Given the description of an element on the screen output the (x, y) to click on. 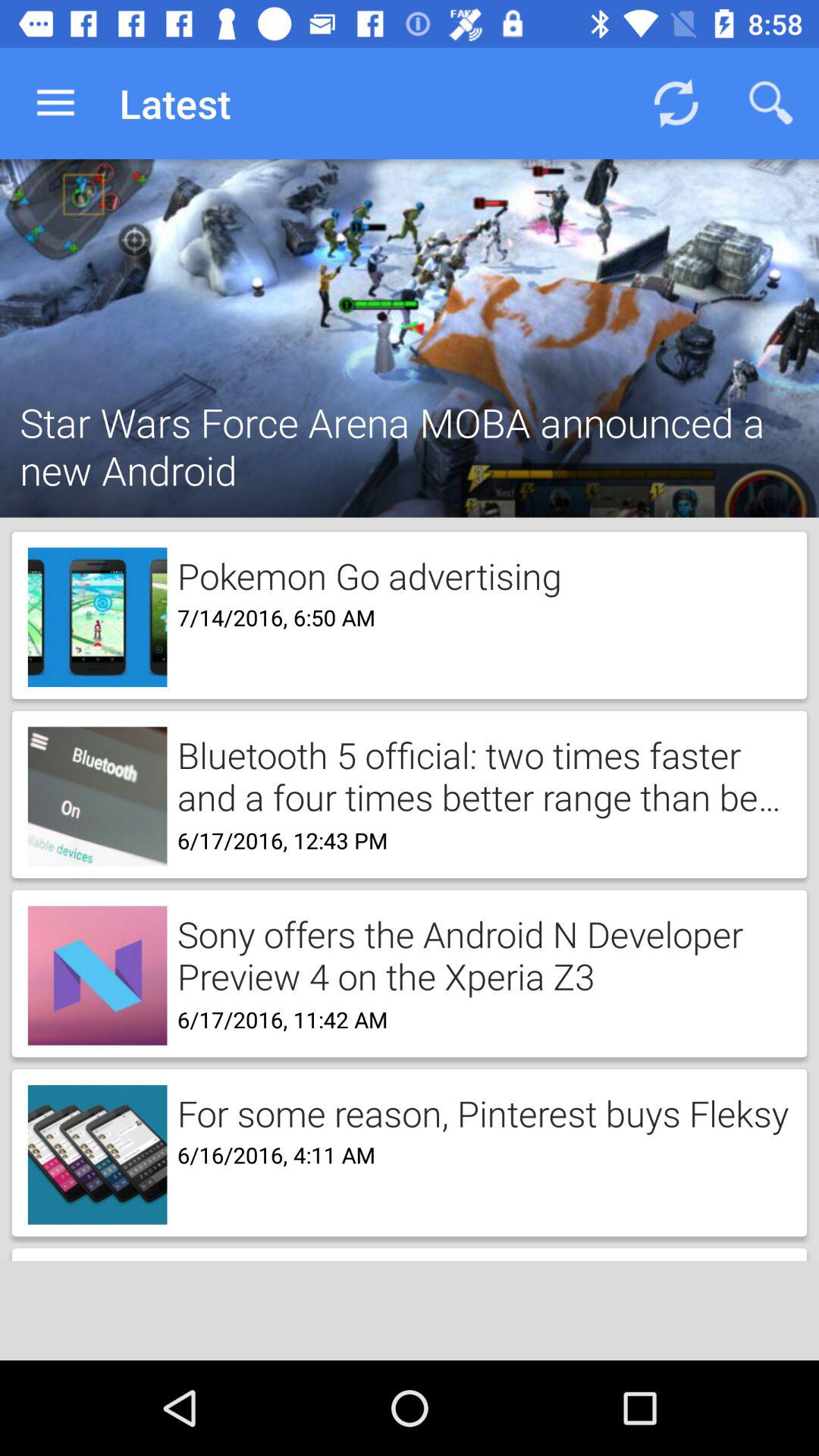
turn on the item above 6 17 2016 (479, 954)
